Given the description of an element on the screen output the (x, y) to click on. 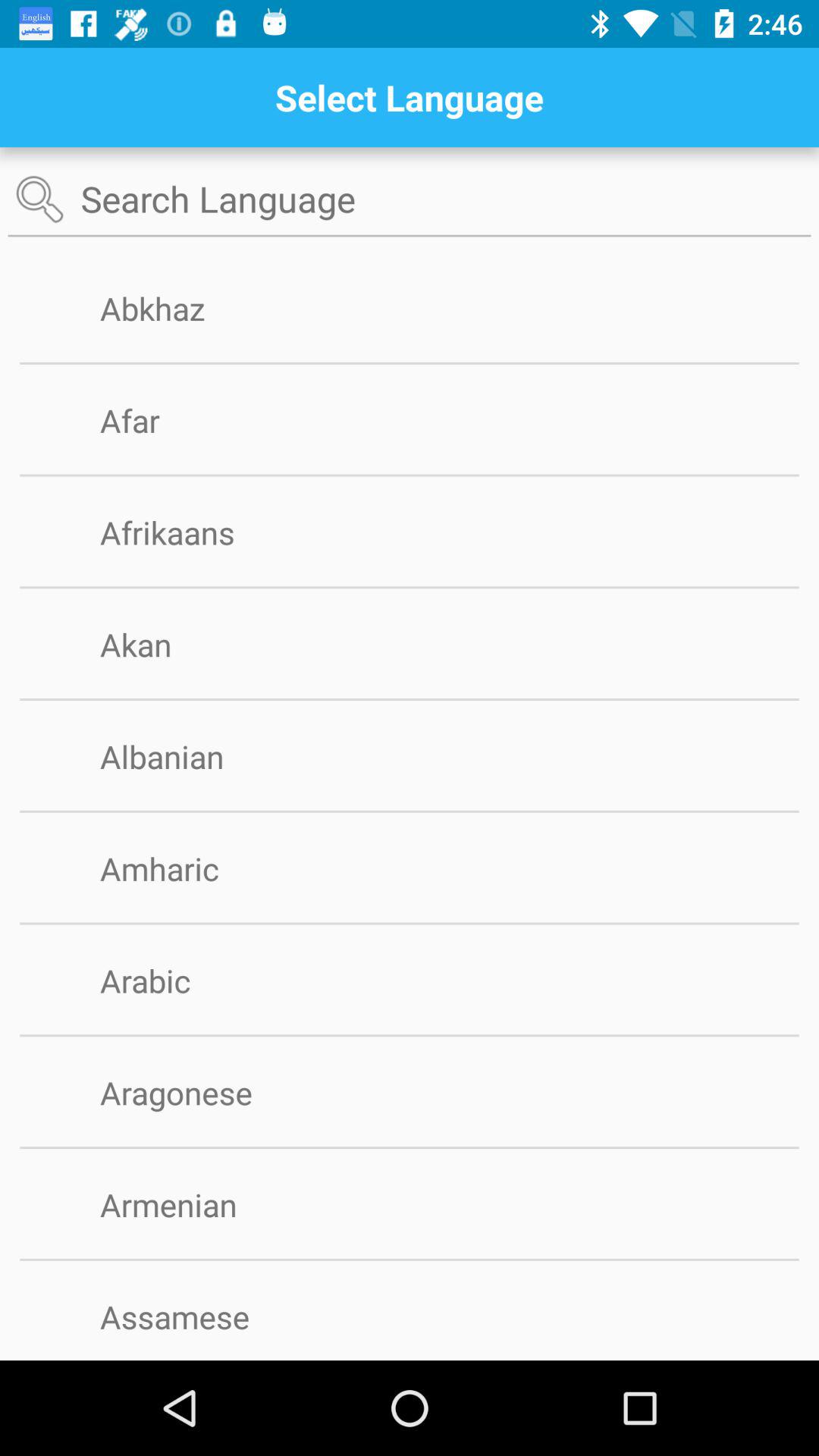
tap the afar (154, 419)
